Given the description of an element on the screen output the (x, y) to click on. 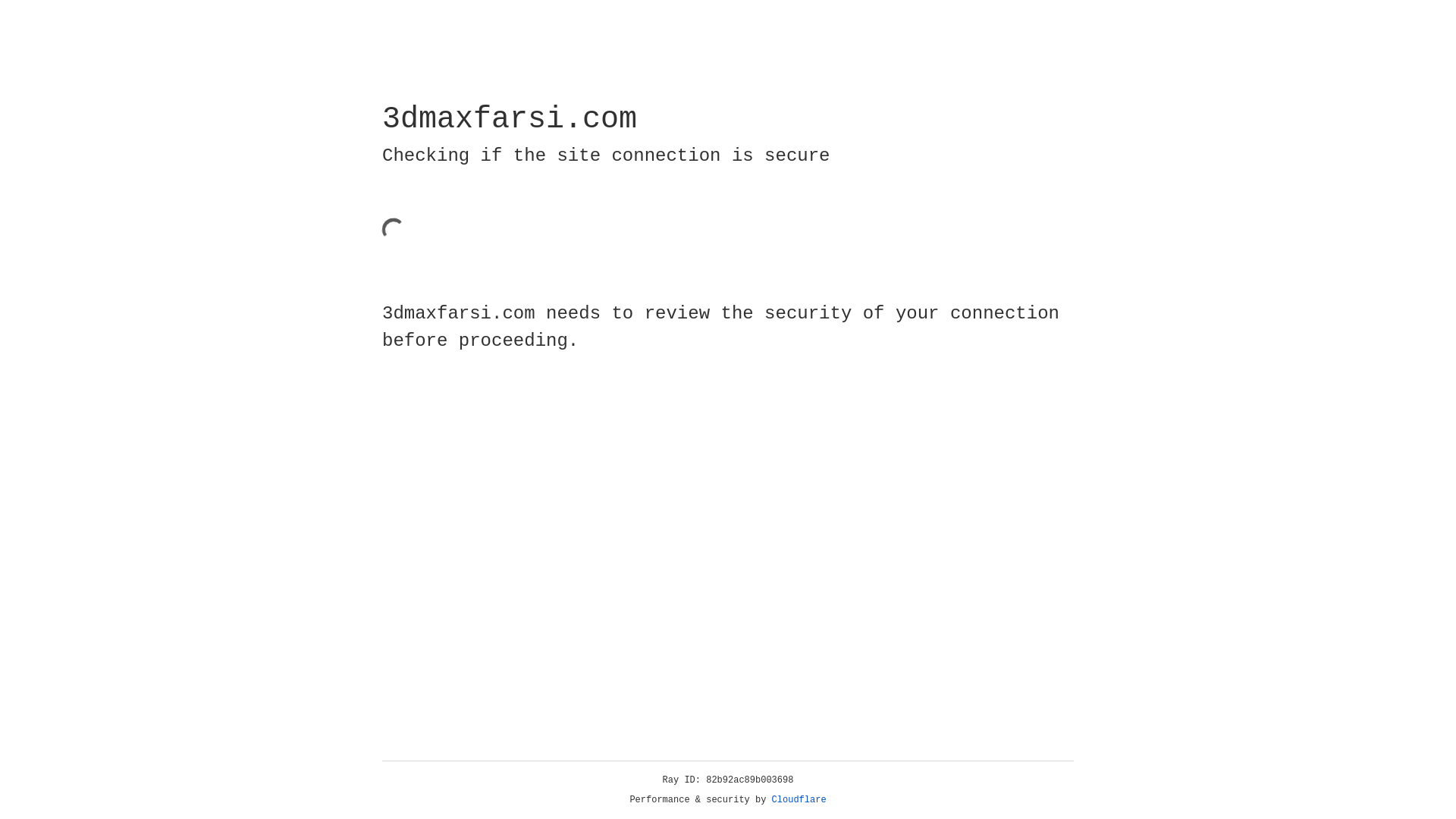
Cloudflare Element type: text (798, 799)
